Given the description of an element on the screen output the (x, y) to click on. 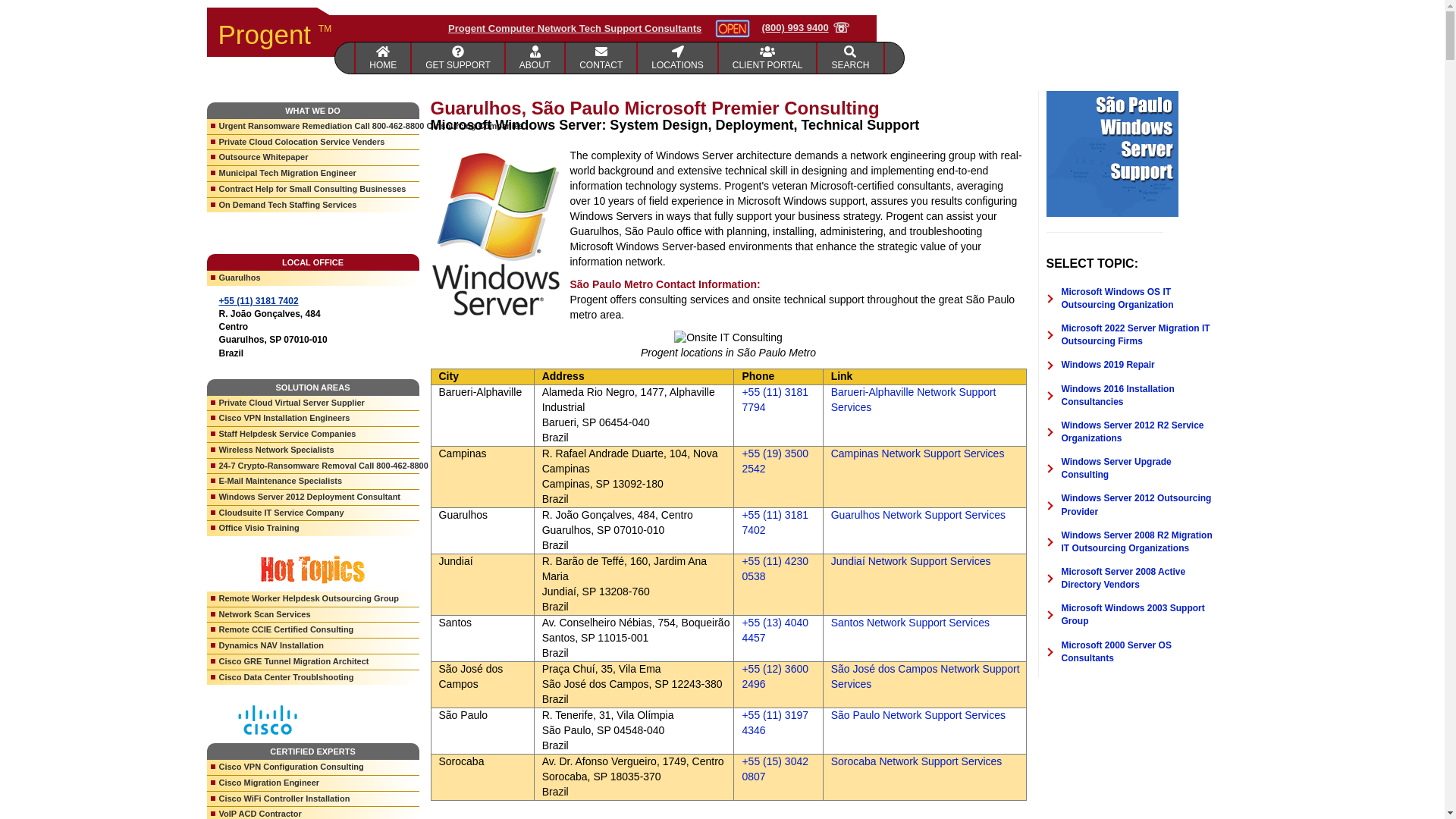
Guarulhos Network Consulting Services (918, 514)
Progent Small Companies Network Companies (458, 57)
Microsoft Expert Small Office Network Installation (535, 57)
Small Business IT Management (677, 57)
Santos Network Consulting Services (910, 622)
Campinas Network Consulting Services (917, 453)
Barueri-Alphaville Network Consulting Services (913, 399)
Consulting Team Small Office (601, 57)
Call for Support (804, 28)
